Given the description of an element on the screen output the (x, y) to click on. 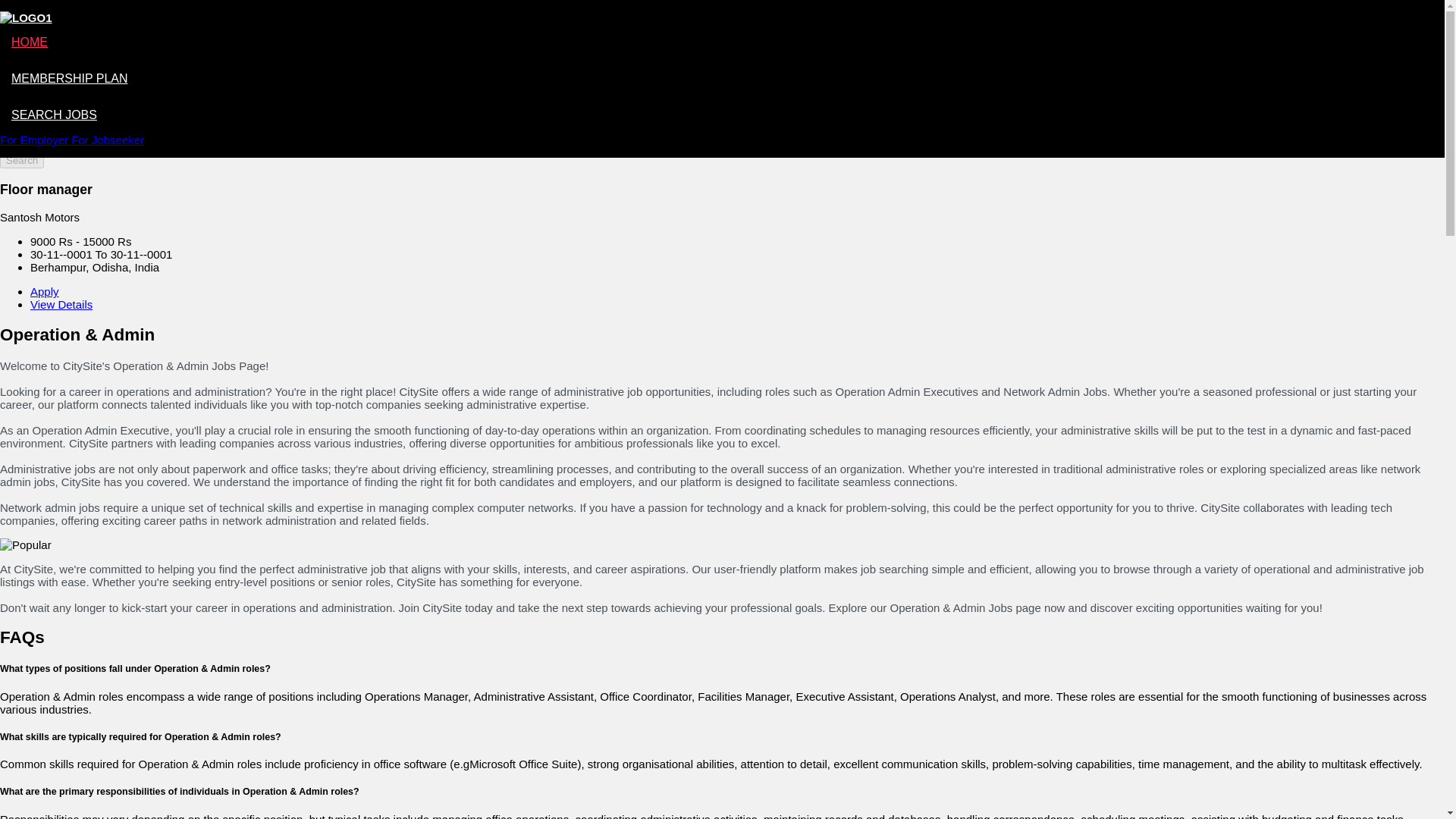
HOME (29, 42)
Home (45, 62)
For Jobseeker (107, 139)
MEMBERSHIP PLAN (69, 78)
Santosh Motors (40, 216)
For Employer (35, 139)
View Details (61, 304)
Search (21, 160)
Apply (44, 291)
SEARCH JOBS (54, 114)
